Given the description of an element on the screen output the (x, y) to click on. 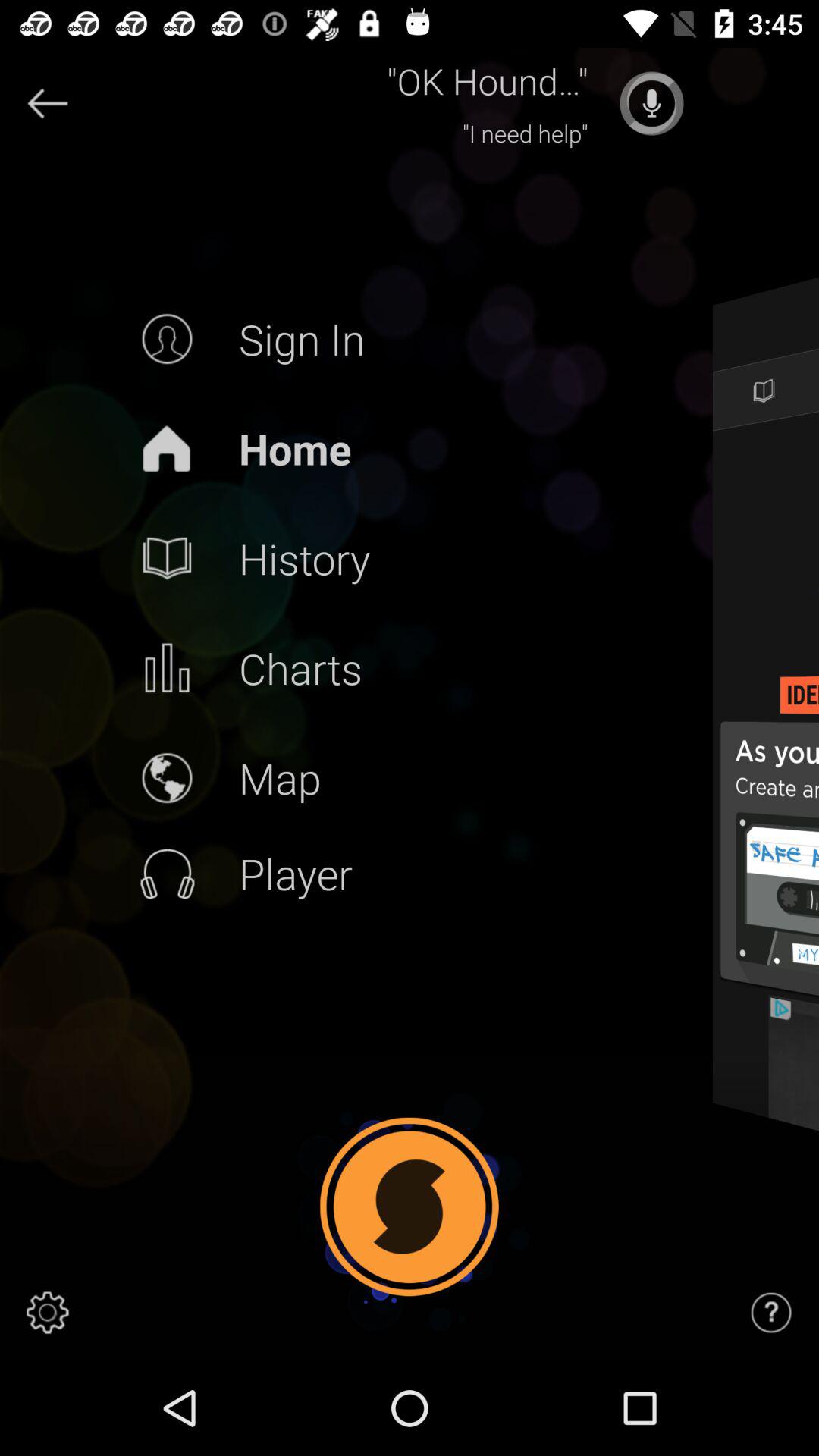
go to settings (47, 1312)
